Given the description of an element on the screen output the (x, y) to click on. 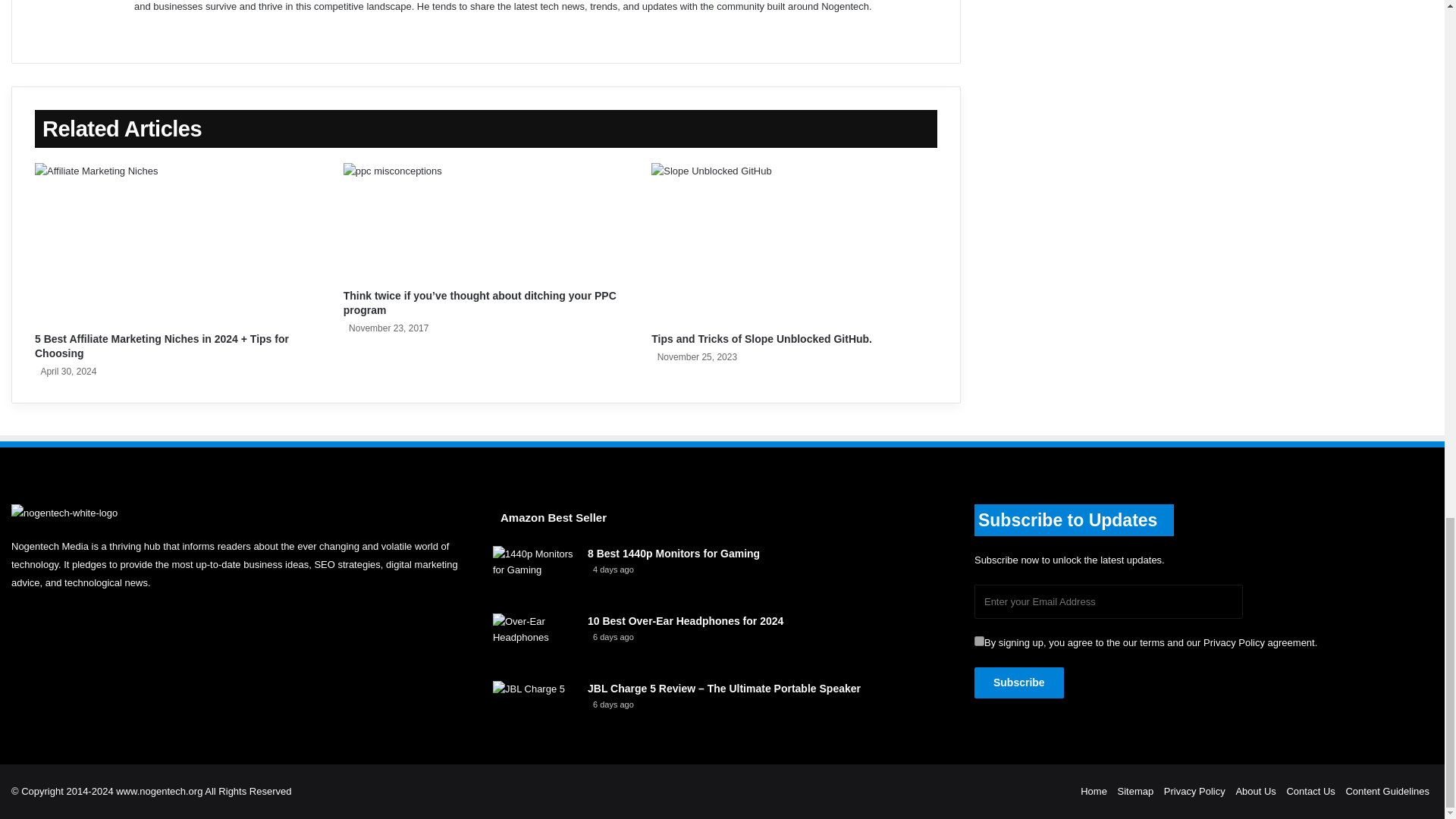
Subscribe (1019, 682)
